Given the description of an element on the screen output the (x, y) to click on. 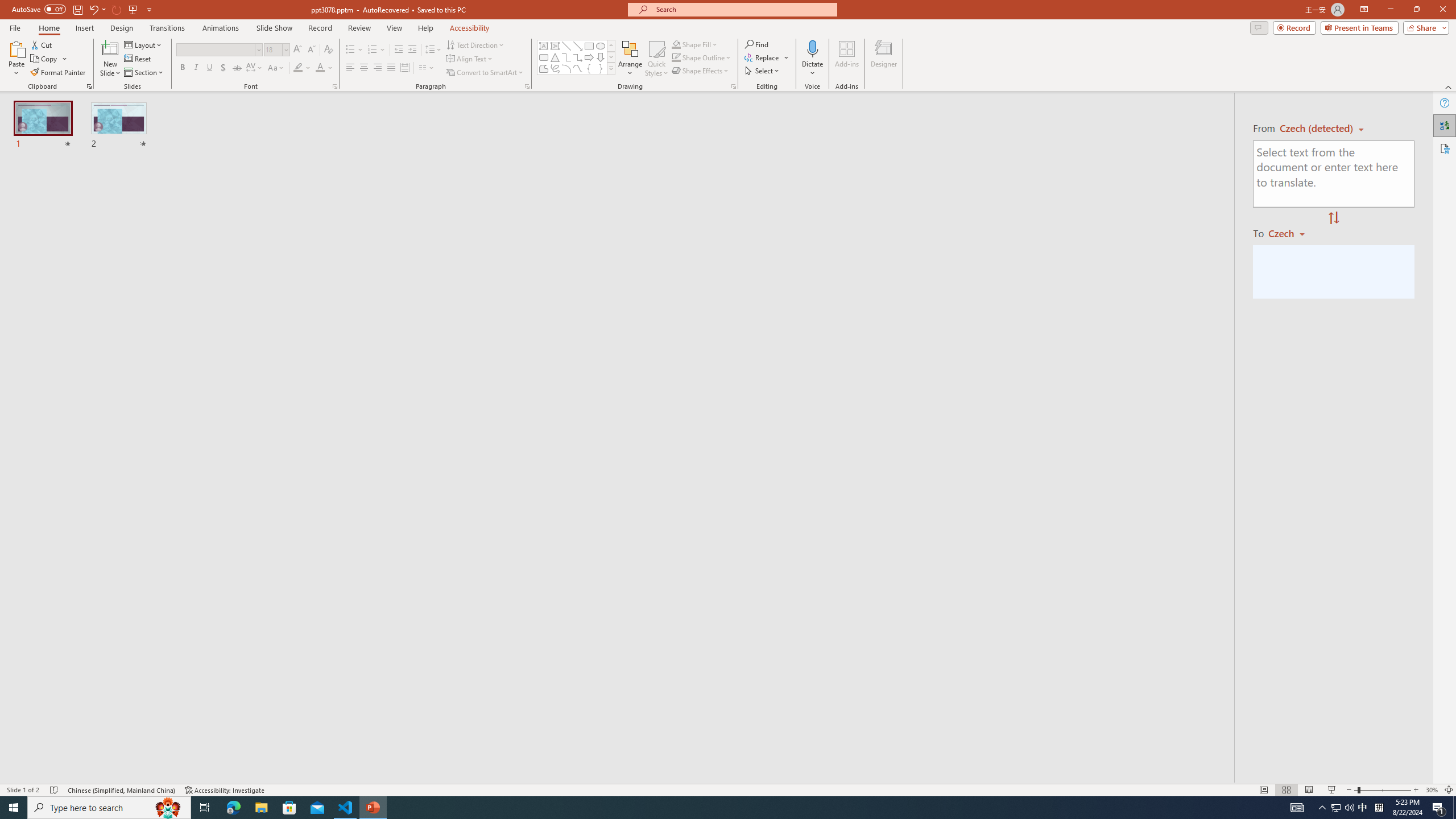
Notifications (1034, 766)
Earth - Wikipedia (23, 481)
Terminal (596, 114)
Toggle Secondary Side Bar (Ctrl+Alt+B) (1015, 150)
remote (69, 766)
WebIDE (486, 114)
Terminal actions (851, 533)
Search (Ctrl+Shift+F) (76, 265)
